Given the description of an element on the screen output the (x, y) to click on. 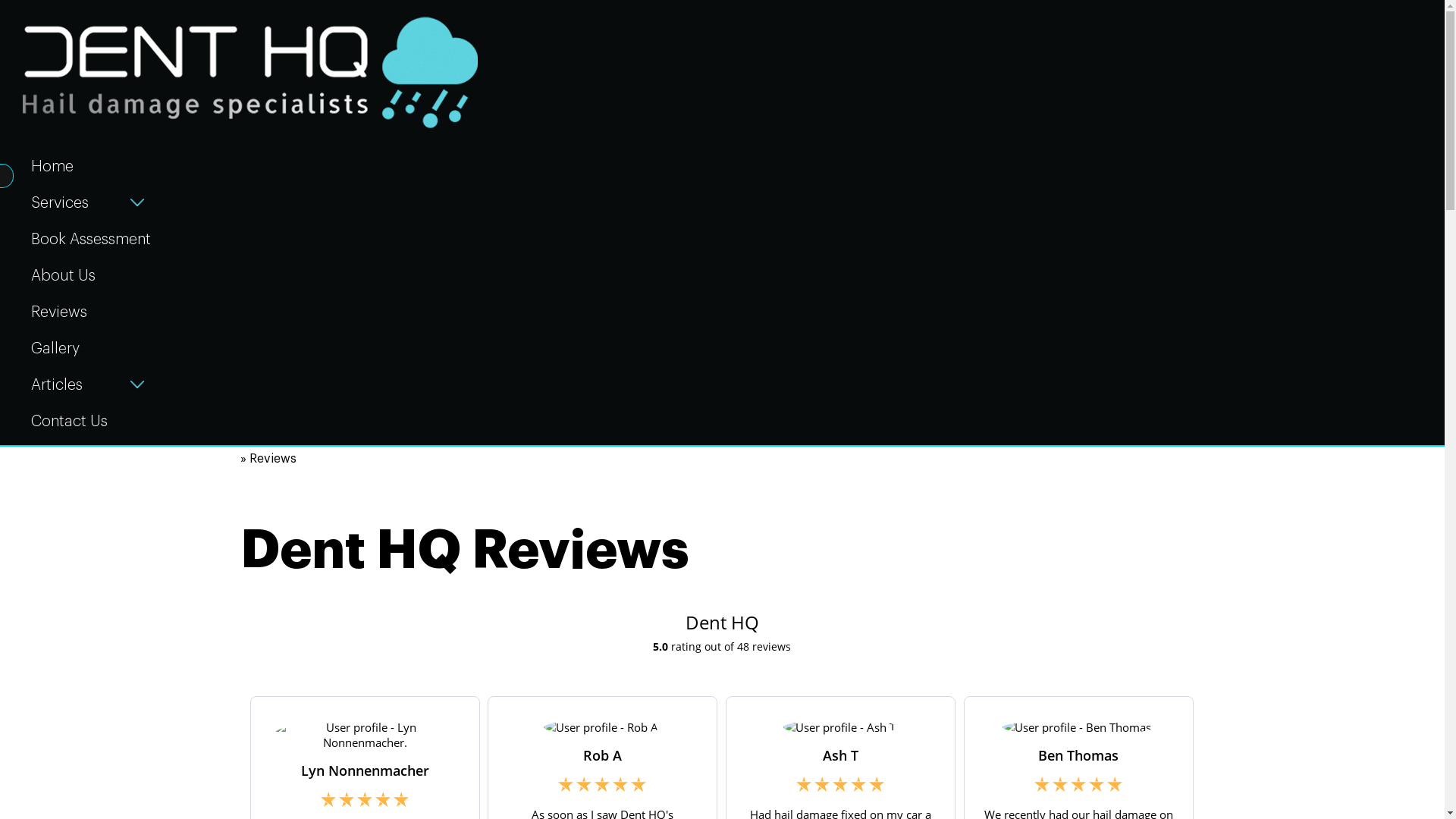
Articles Element type: text (56, 382)
Gallery Element type: text (90, 346)
Home Element type: text (90, 164)
Contact Us Element type: text (90, 419)
Book Assessment Element type: text (90, 237)
Services Element type: text (59, 200)
About Us Element type: text (90, 273)
Reviews Element type: text (90, 309)
Reviews Element type: text (272, 457)
